Given the description of an element on the screen output the (x, y) to click on. 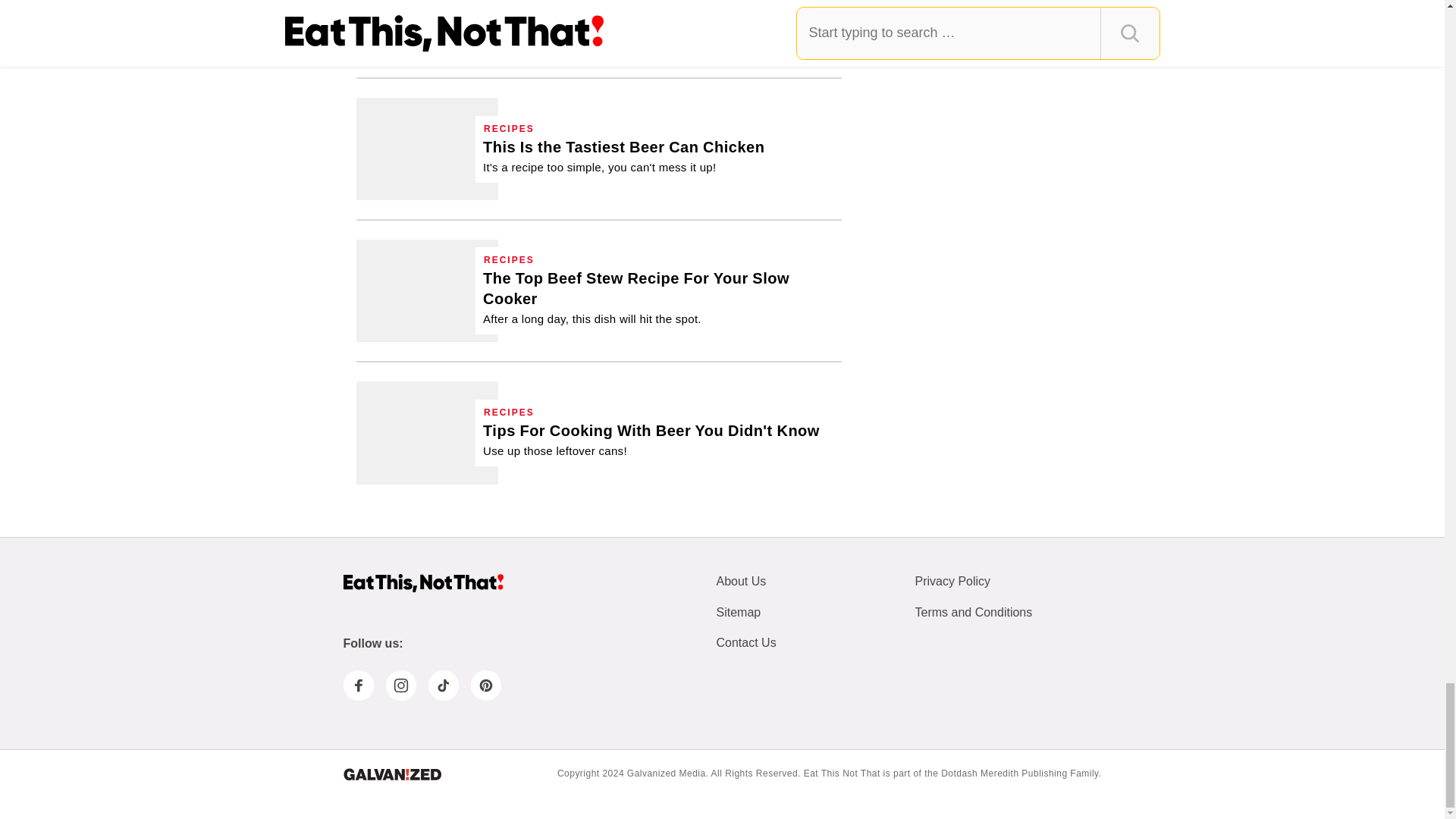
A Versatile Slow-Roasted Pork Shoulder Recipe (426, 29)
A Versatile Slow-Roasted Pork Shoulder Recipe (658, 21)
Best-Ever Beef Stew in Red Wine Recipe (426, 290)
The Simplest Beer Can Chicken Recipe (426, 148)
Best-Ever Beef Stew in Red Wine Recipe (658, 297)
The Simplest Beer Can Chicken Recipe (623, 156)
